Given the description of an element on the screen output the (x, y) to click on. 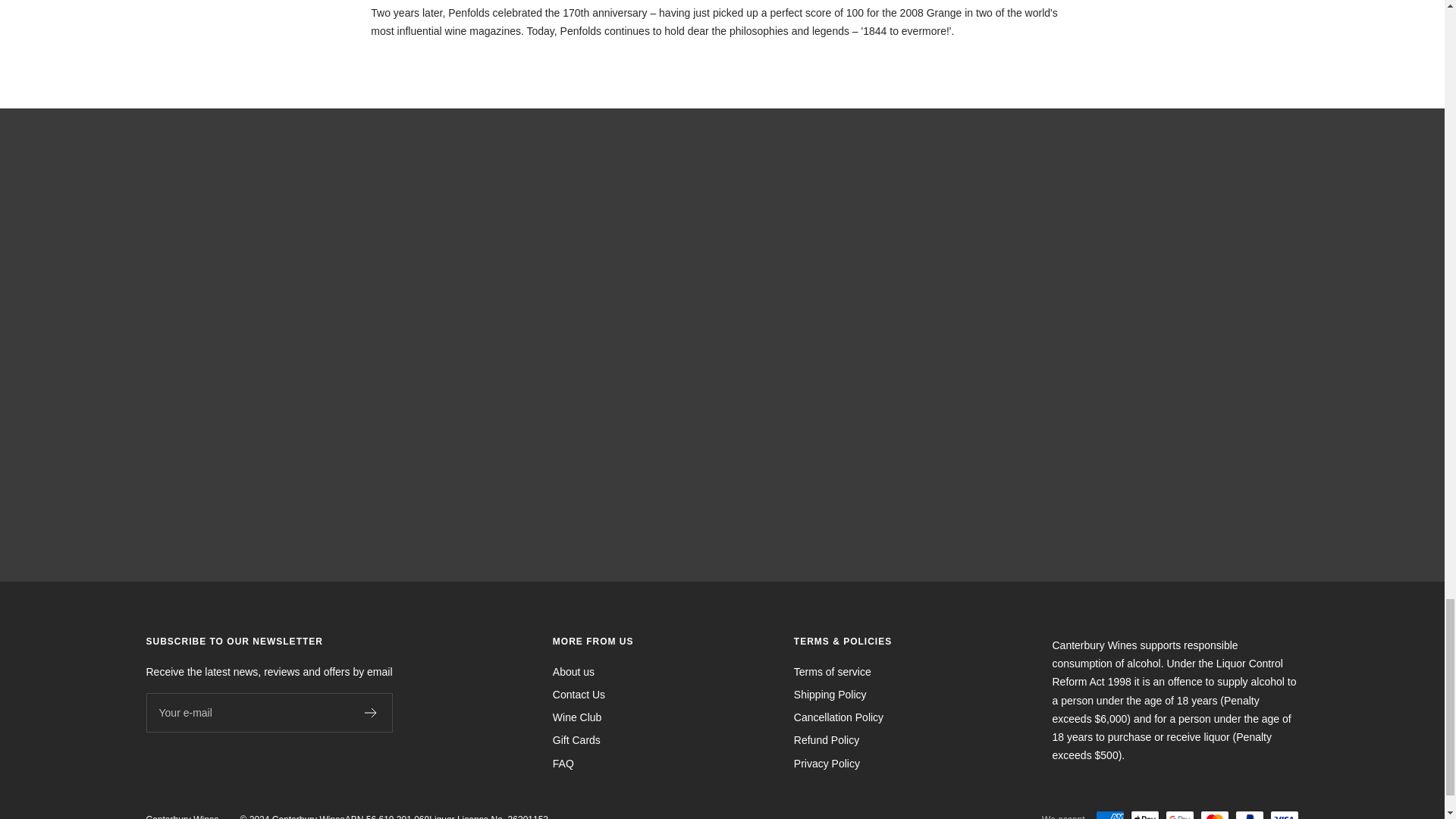
Register (370, 712)
